Given the description of an element on the screen output the (x, y) to click on. 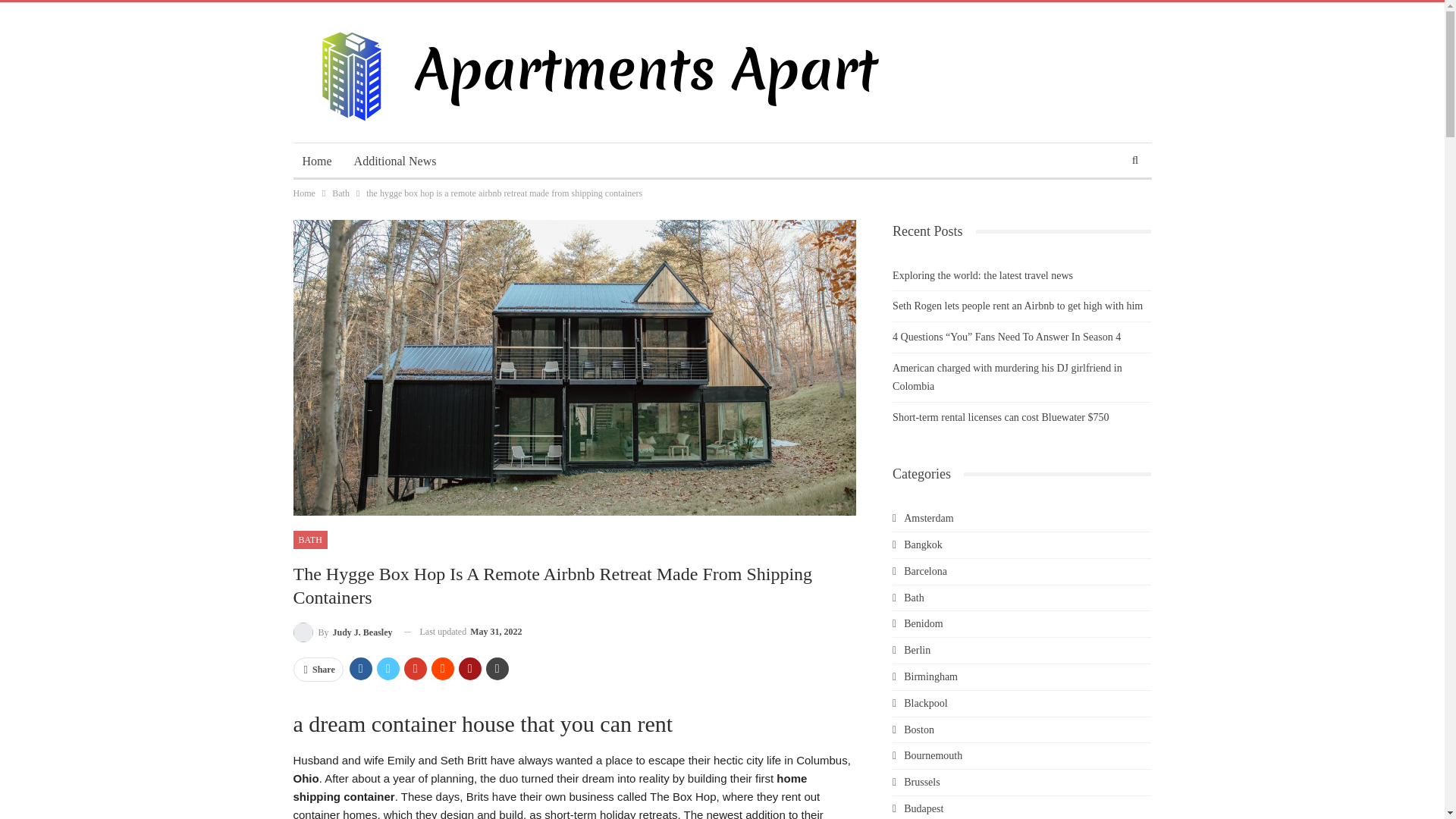
Home (316, 161)
Bath (340, 193)
Additional News (395, 161)
Browse Author Articles (341, 631)
Home (303, 193)
BATH (309, 539)
By Judy J. Beasley (341, 631)
